Given the description of an element on the screen output the (x, y) to click on. 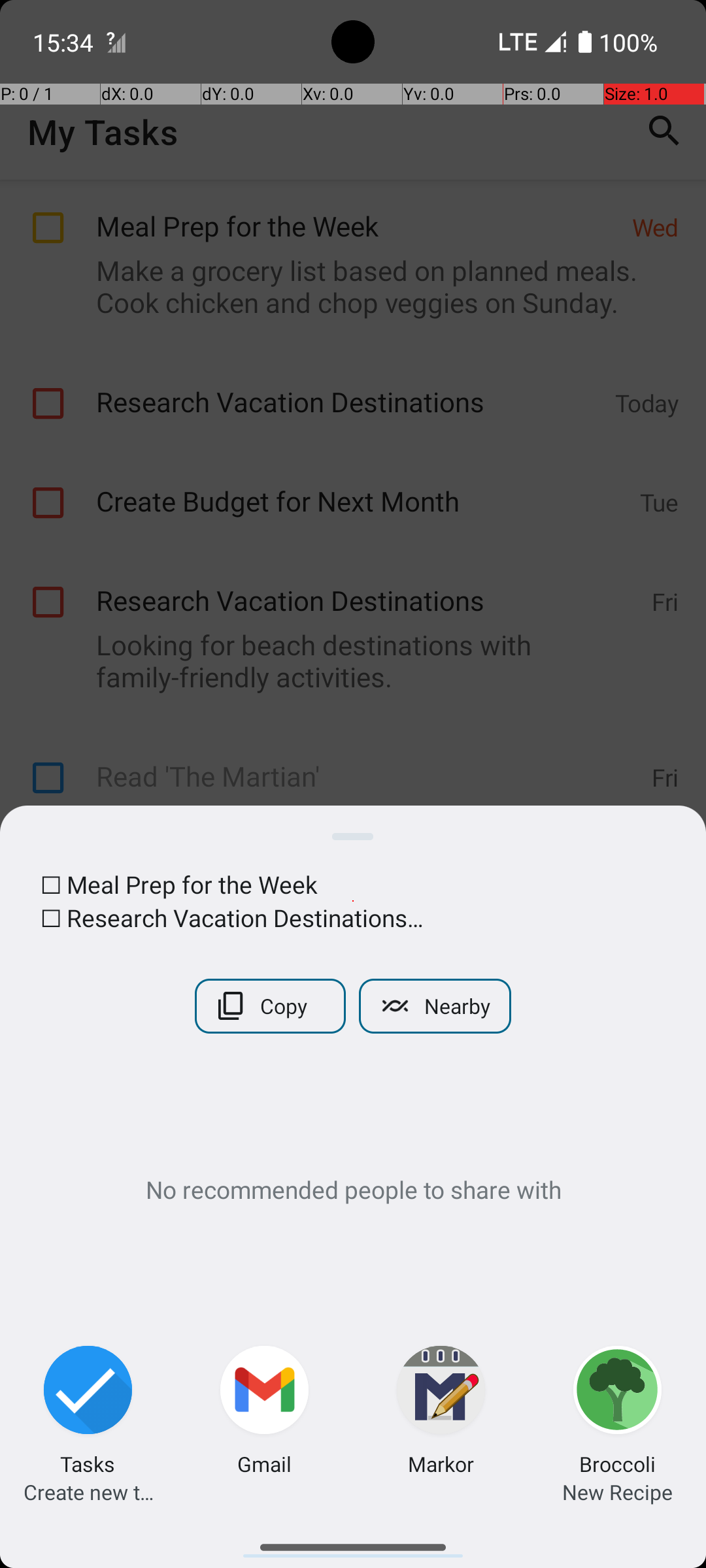
☐ Meal Prep for the Week
☐ Research Vacation Destinations
☐ Create Budget for Next Month
☐ Research Vacation Destinations
☐ Read 'The Martian'
☑ Complete project proposal
☑ Dinner with friends
☑ Exercise session with coach
☑ Water Plants
☑ Research Vacation Destinations
☑ Change Air Filter
☑ Call Grandma
☑ Meal Prep for the Week
☑ Submit Expense Report
☑ Research Vacation Destinations
☑ Meal Prep for the Week
☑ Attend Team Meeting
☑ Reply to Emails
☑ Water Plants
☑ Attend Team Meeting
☑ Learn to Play Guitar
☑ Attend Team Meeting
☑ Back Up Computer Files Element type: android.widget.TextView (352, 900)
